Given the description of an element on the screen output the (x, y) to click on. 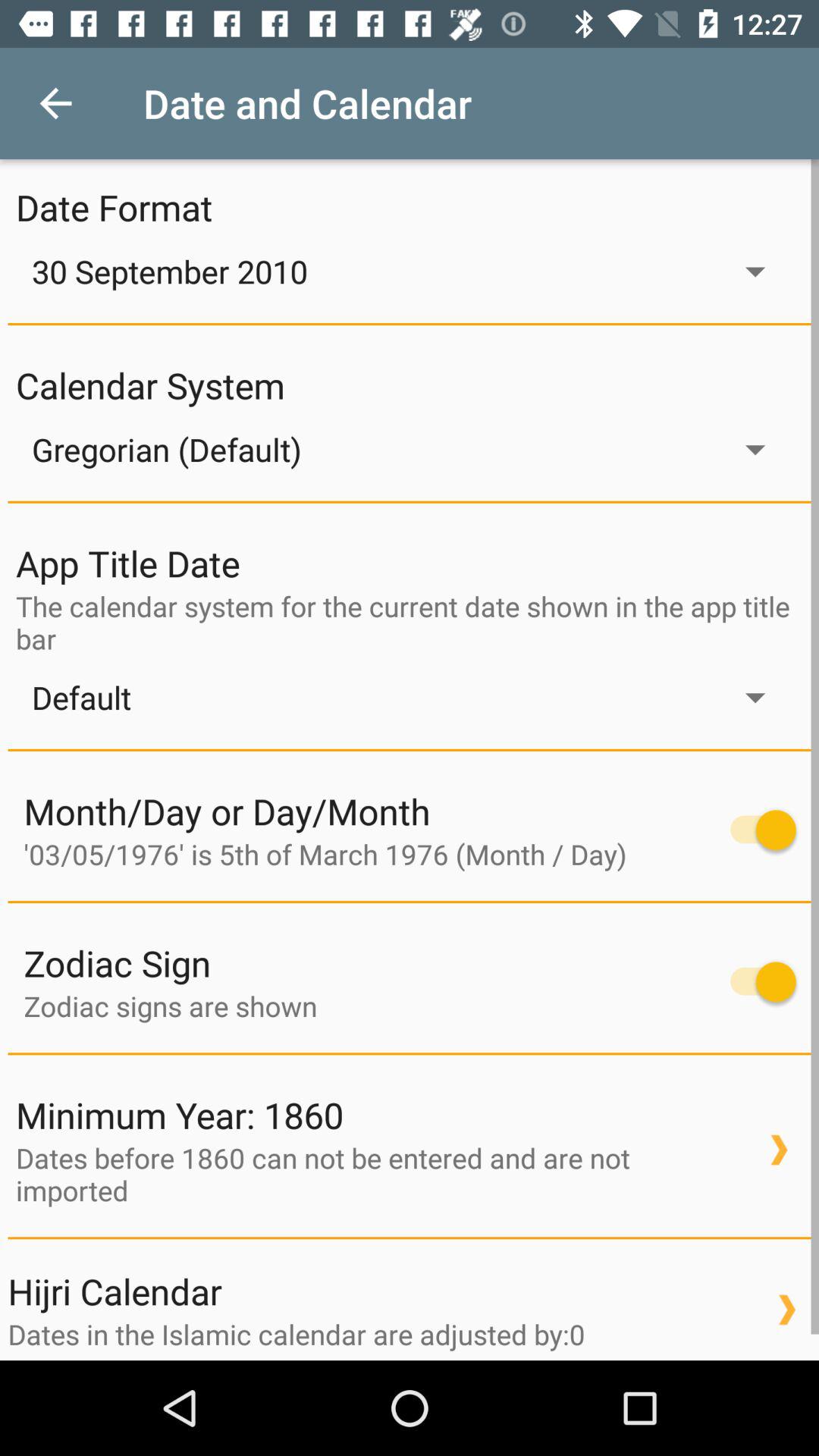
menu pega (755, 830)
